Given the description of an element on the screen output the (x, y) to click on. 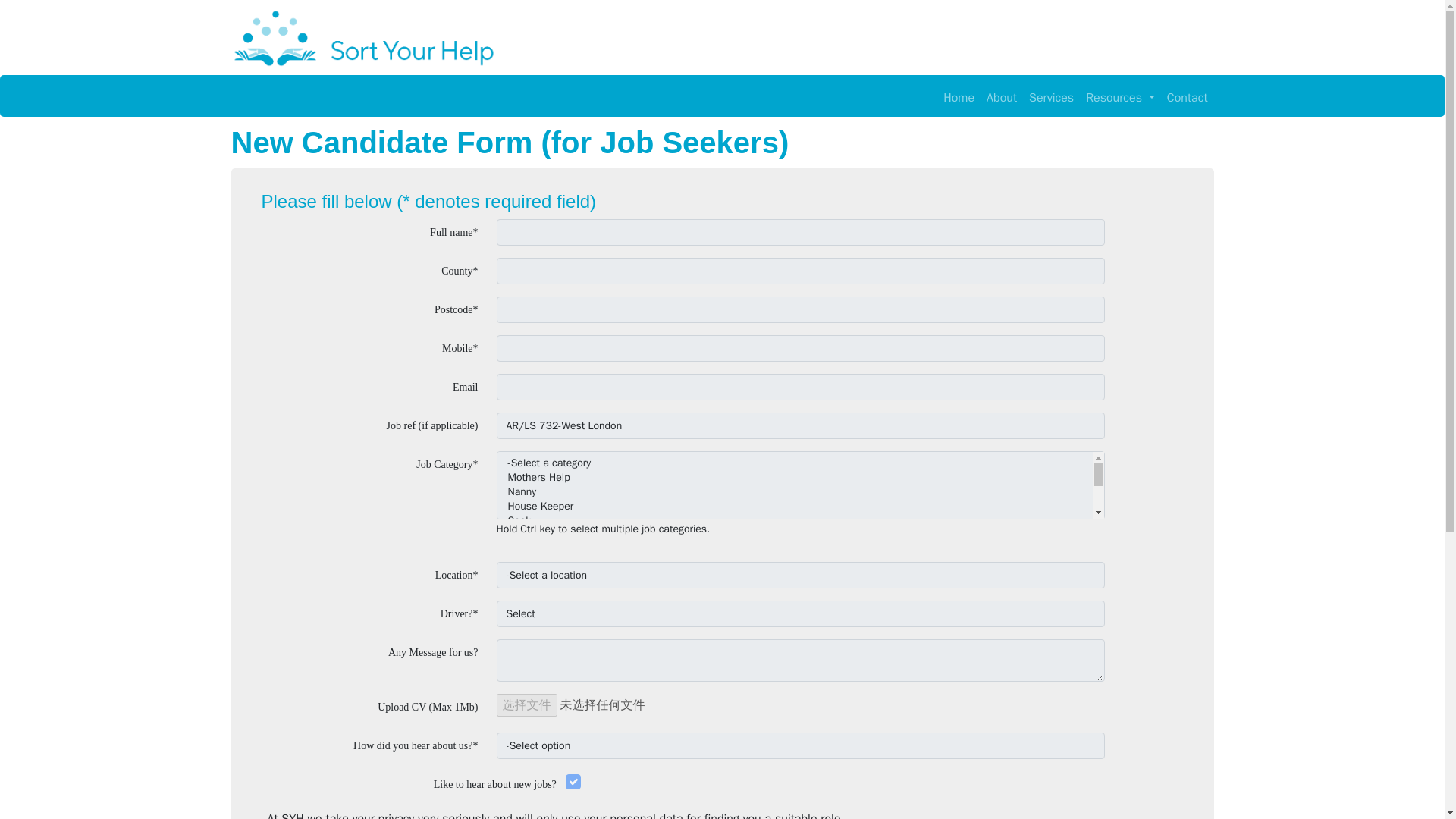
1 (573, 781)
Contact (1187, 95)
Resources (1120, 95)
About (1001, 95)
Services (1051, 95)
Home (958, 95)
